Given the description of an element on the screen output the (x, y) to click on. 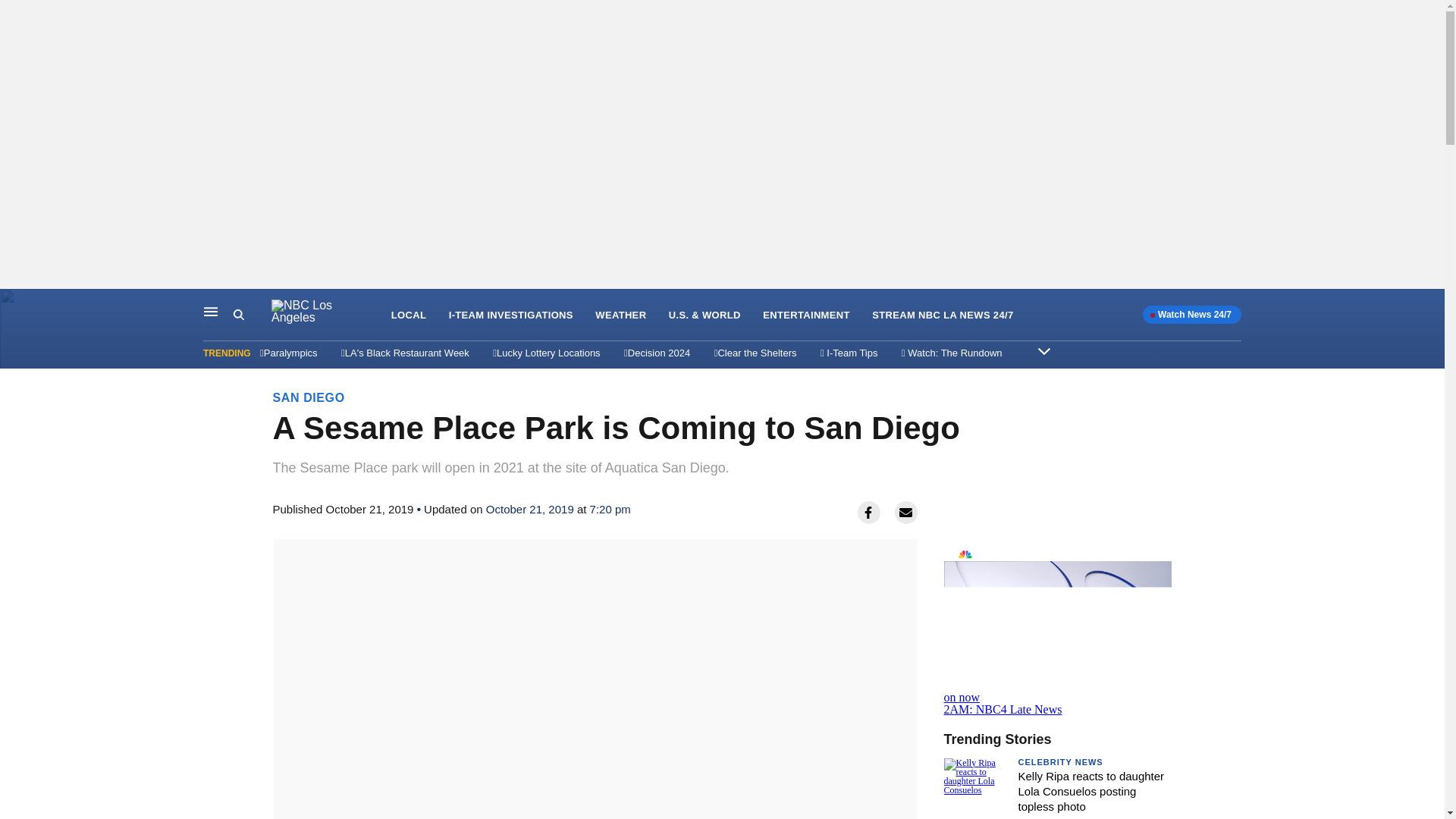
Search (252, 314)
CELEBRITY NEWS (1059, 761)
ENTERTAINMENT (806, 315)
Skip to content (16, 304)
LOCAL (408, 315)
I-TEAM INVESTIGATIONS (510, 315)
WEATHER (620, 315)
Expand (1043, 350)
